Given the description of an element on the screen output the (x, y) to click on. 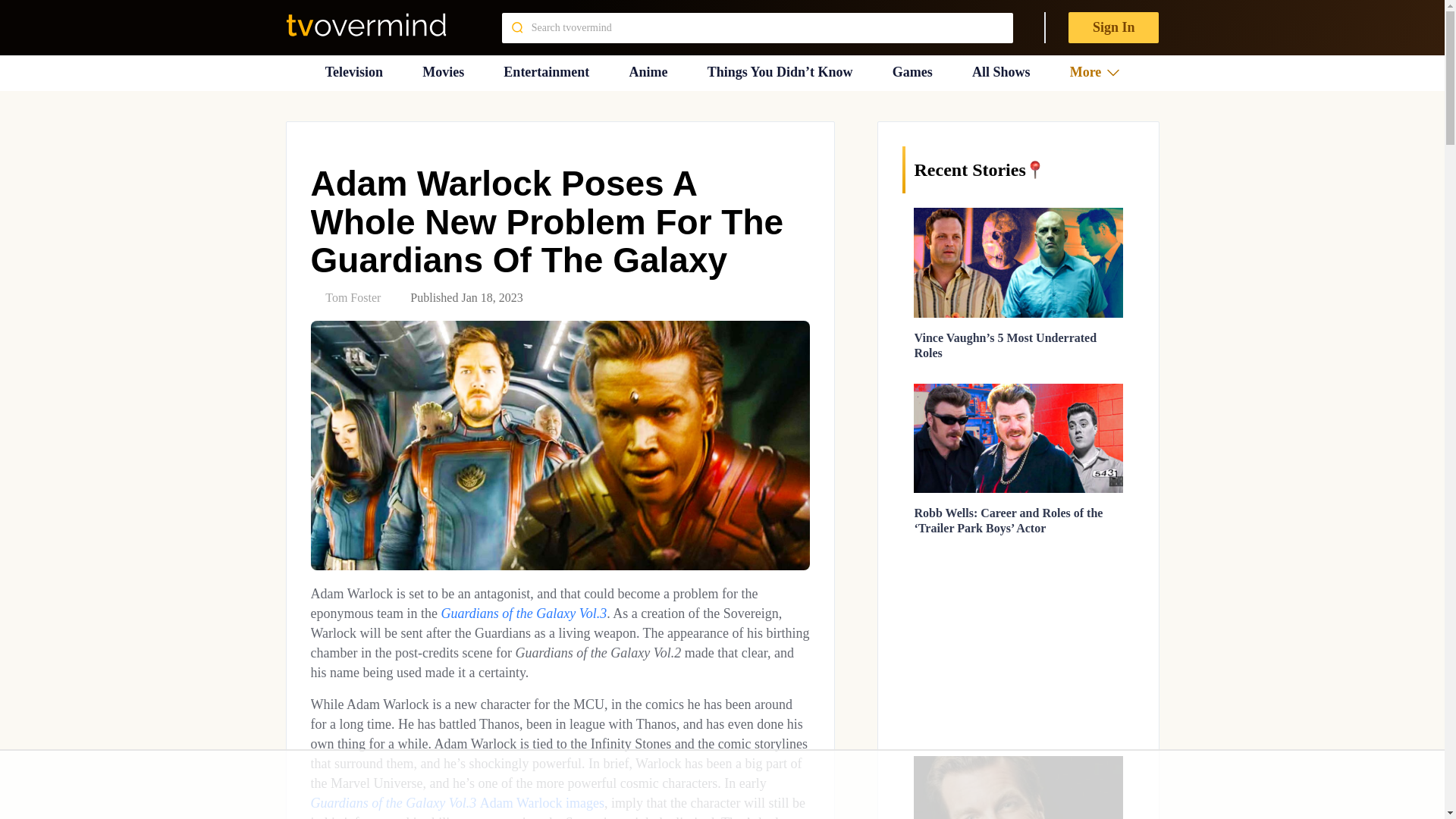
Movies (443, 72)
Posts by Tom Foster (352, 297)
Entertainment (546, 72)
All Shows (1001, 72)
Games (912, 72)
Sign In (1113, 27)
TV News (353, 72)
Television (353, 72)
More (1094, 72)
Anime (648, 72)
